Given the description of an element on the screen output the (x, y) to click on. 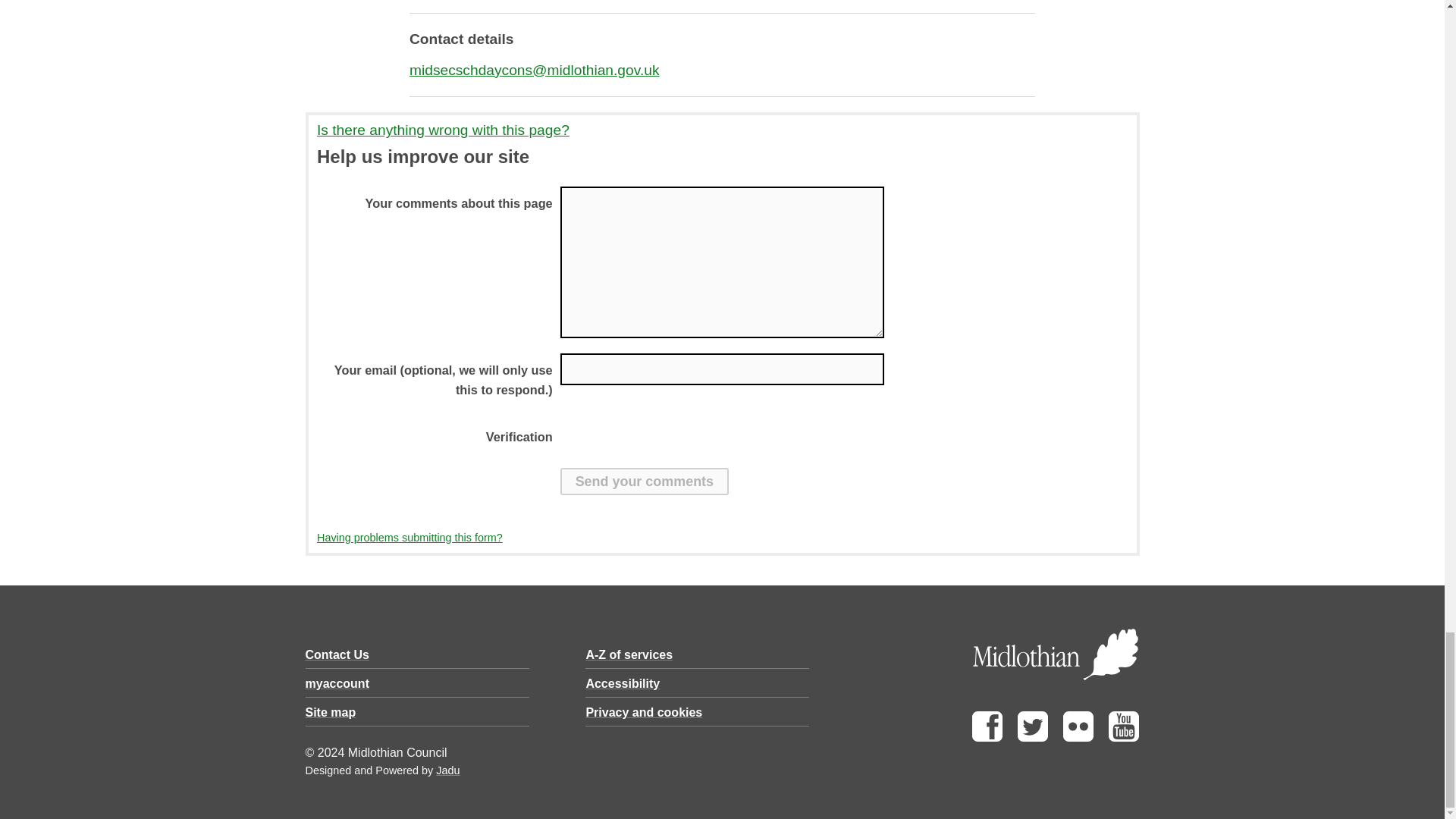
Having problems submitting this form? (409, 537)
Site map (329, 712)
Jadu (447, 770)
Send your comments (644, 481)
Is there anything wrong with this page? (721, 130)
Send your comments (644, 481)
myaccount (336, 683)
Youtube (1123, 737)
Please add a comment before pressing send (722, 262)
Accessibility (622, 683)
